Given the description of an element on the screen output the (x, y) to click on. 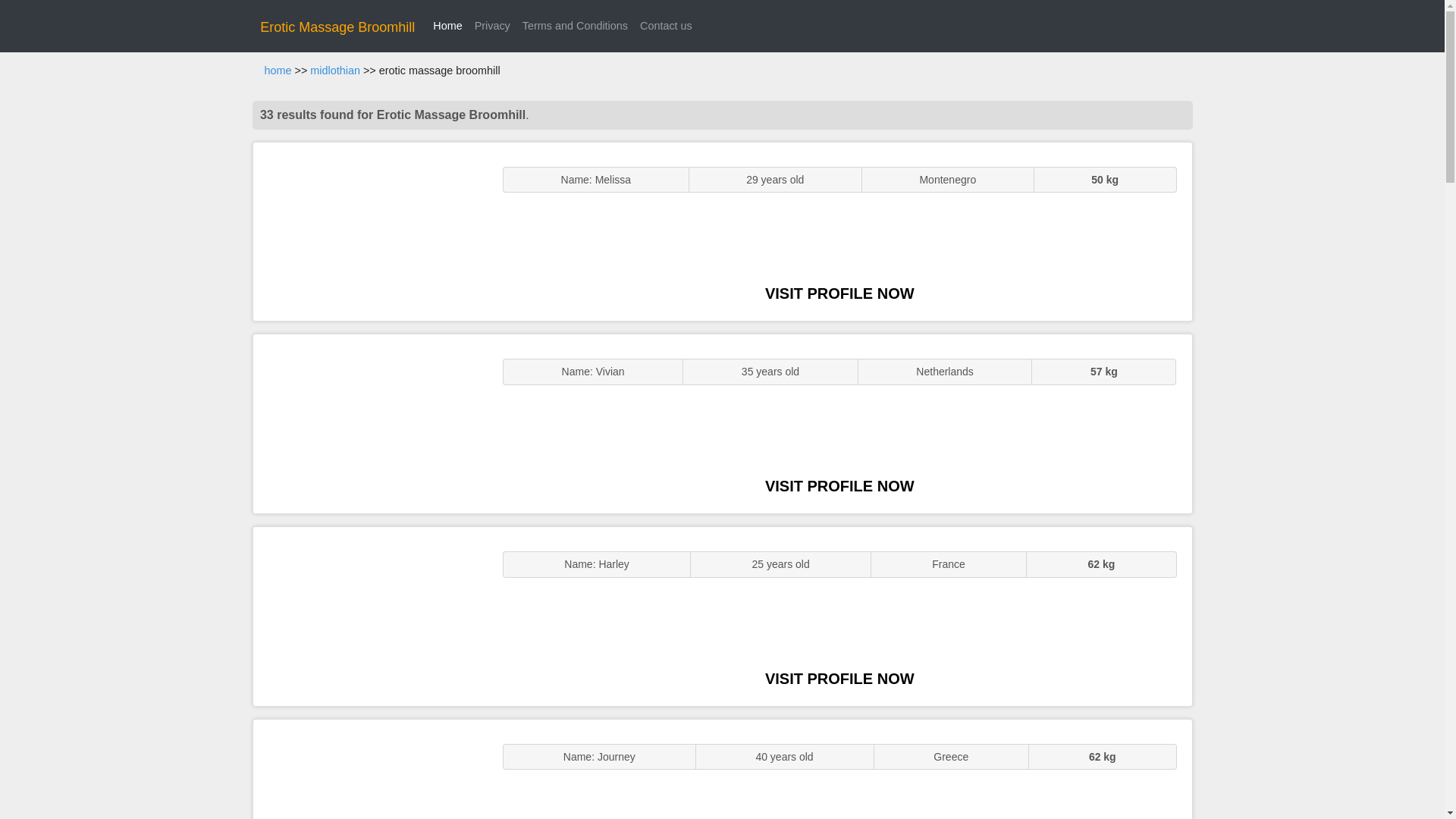
Erotic Massage Broomhill (337, 27)
VISIT PROFILE NOW (839, 485)
home (277, 70)
VISIT PROFILE NOW (839, 293)
Sexy (370, 616)
 ENGLISH STUNNER (370, 231)
Contact us (665, 25)
GFE (370, 423)
Privacy (492, 25)
VISIT PROFILE NOW (839, 678)
midlothian (334, 70)
Terms and Conditions (574, 25)
Sluts (370, 769)
